Given the description of an element on the screen output the (x, y) to click on. 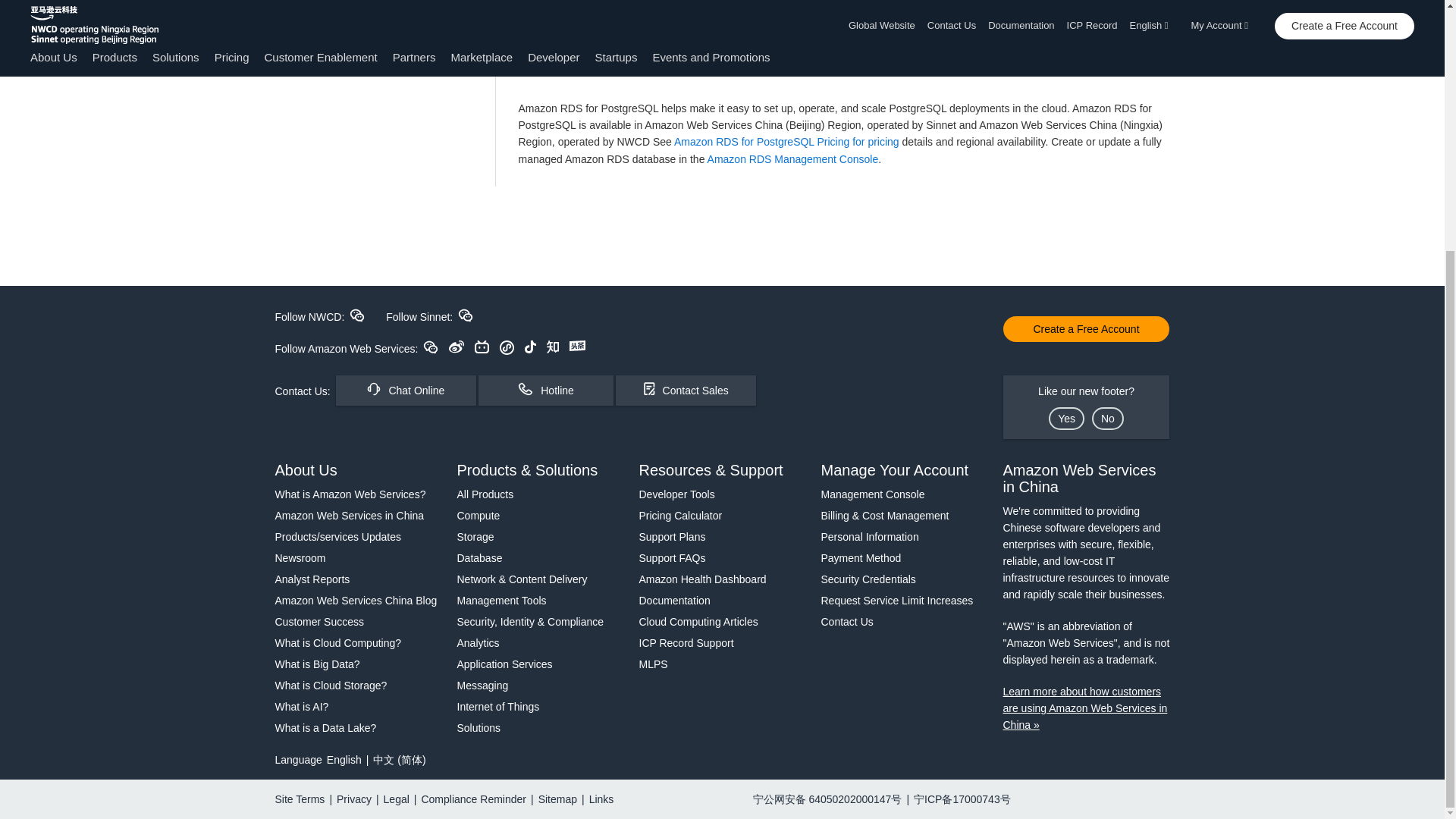
Sinnet (465, 315)
Bilibili (481, 346)
Amazon RDS Management Console (793, 159)
Applets (506, 347)
Amazon RDS User Guide (595, 71)
NWCD (357, 315)
ZhiHu (553, 346)
SinaWeiBo (456, 346)
WeChat public account (430, 346)
PostgreSQL community announcement (700, 4)
TouTiao (577, 345)
Amazon RDS for PostgreSQL Pricing for pricing (786, 141)
